Given the description of an element on the screen output the (x, y) to click on. 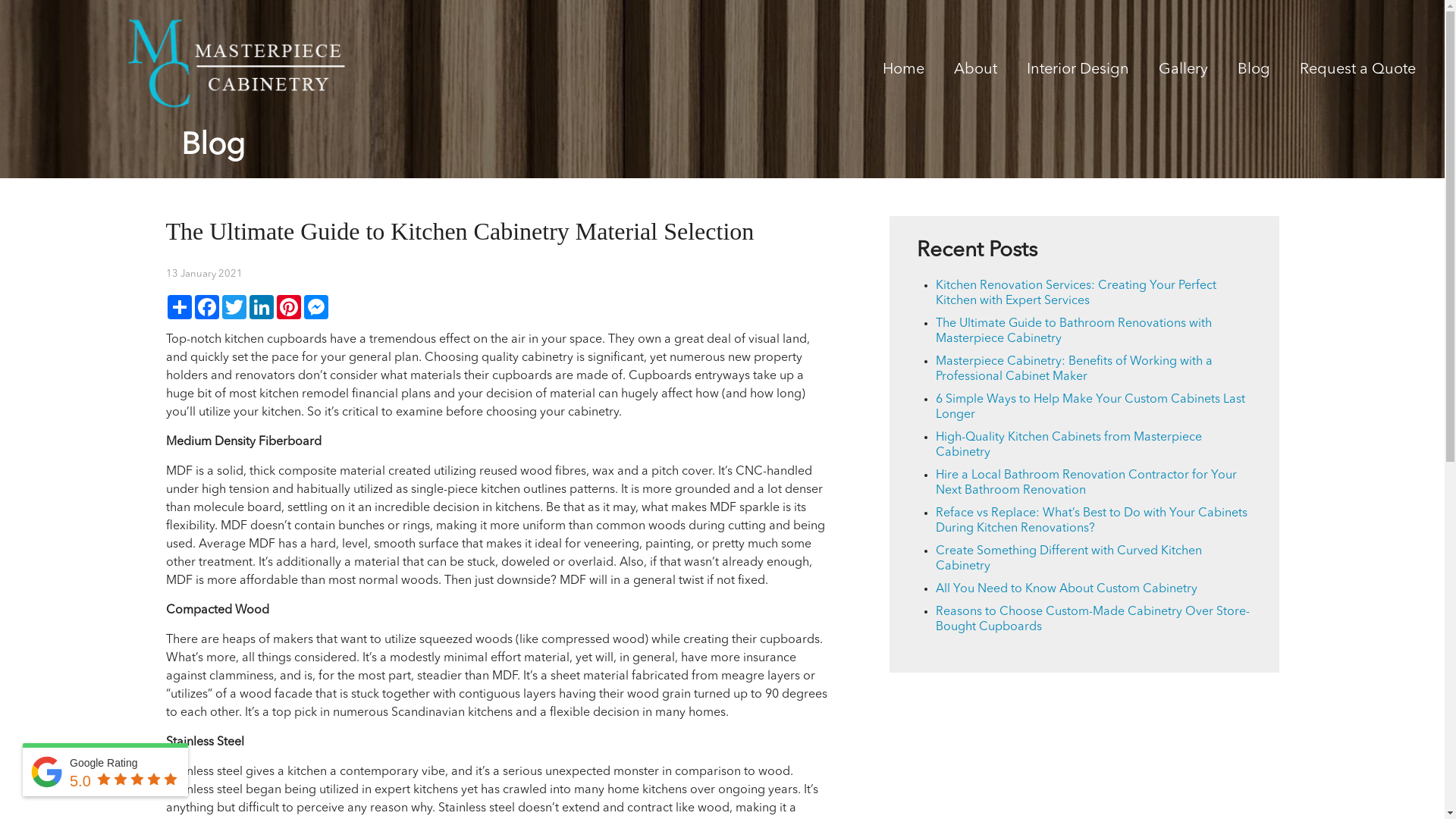
Twitter Element type: text (233, 306)
High-Quality Kitchen Cabinets from Masterpiece Cabinetry Element type: text (1068, 444)
LinkedIn Element type: text (260, 306)
Pinterest Element type: text (287, 306)
Share Element type: text (178, 306)
6 Simple Ways to Help Make Your Custom Cabinets Last Longer Element type: text (1090, 406)
Facebook Element type: text (205, 306)
All You Need to Know About Custom Cabinetry Element type: text (1066, 589)
Request a Quote Element type: text (1357, 72)
About Element type: text (975, 72)
Interior Design Element type: text (1077, 72)
Create Something Different with Curved Kitchen Cabinetry Element type: text (1068, 558)
Home Element type: text (903, 72)
Gallery Element type: text (1183, 72)
Blog Element type: text (1253, 72)
Messenger Element type: text (315, 306)
